Given the description of an element on the screen output the (x, y) to click on. 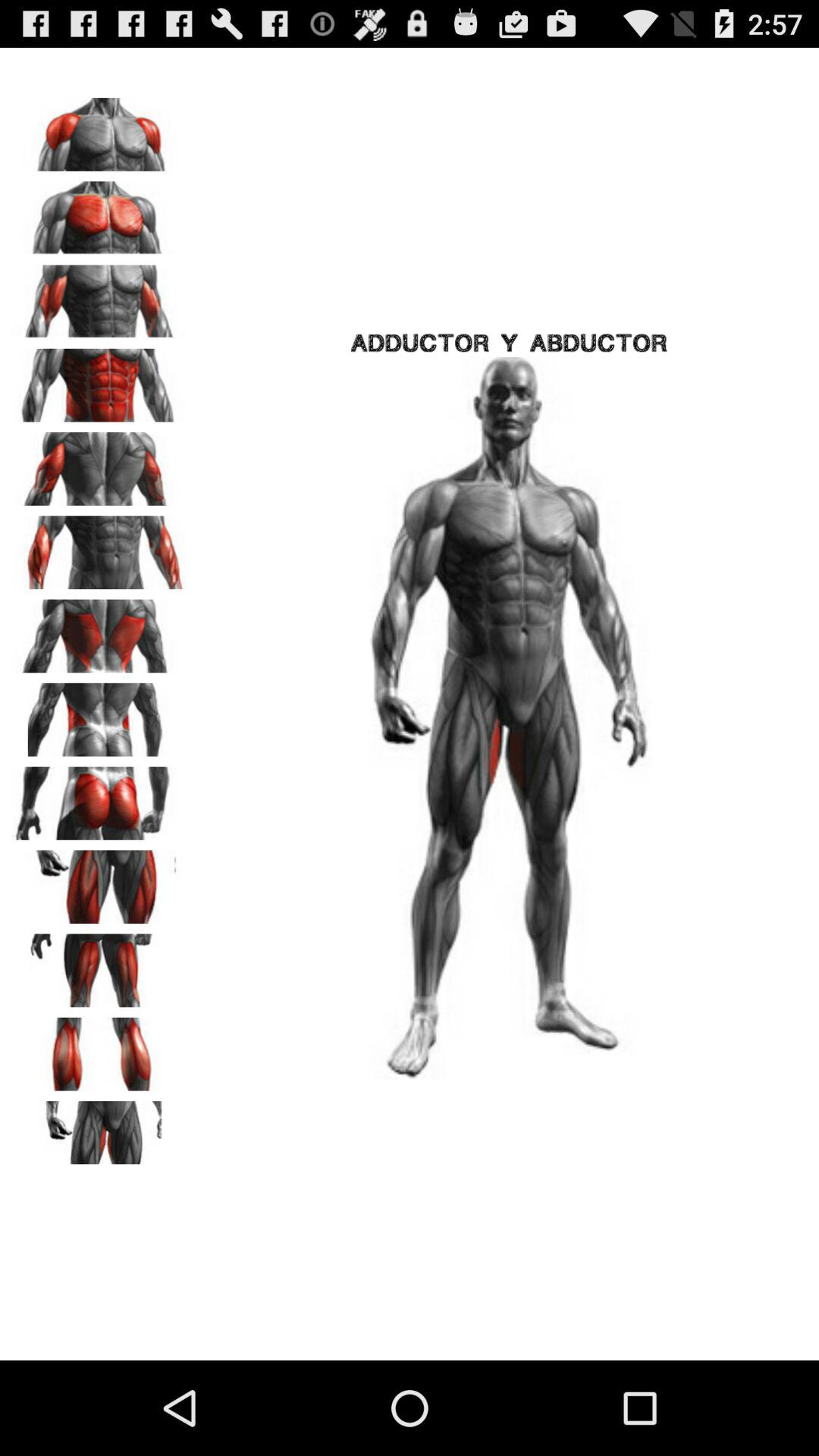
o exercicio que ser realizado ir fortalecer os musculos internos das coxa (99, 1132)
